Given the description of an element on the screen output the (x, y) to click on. 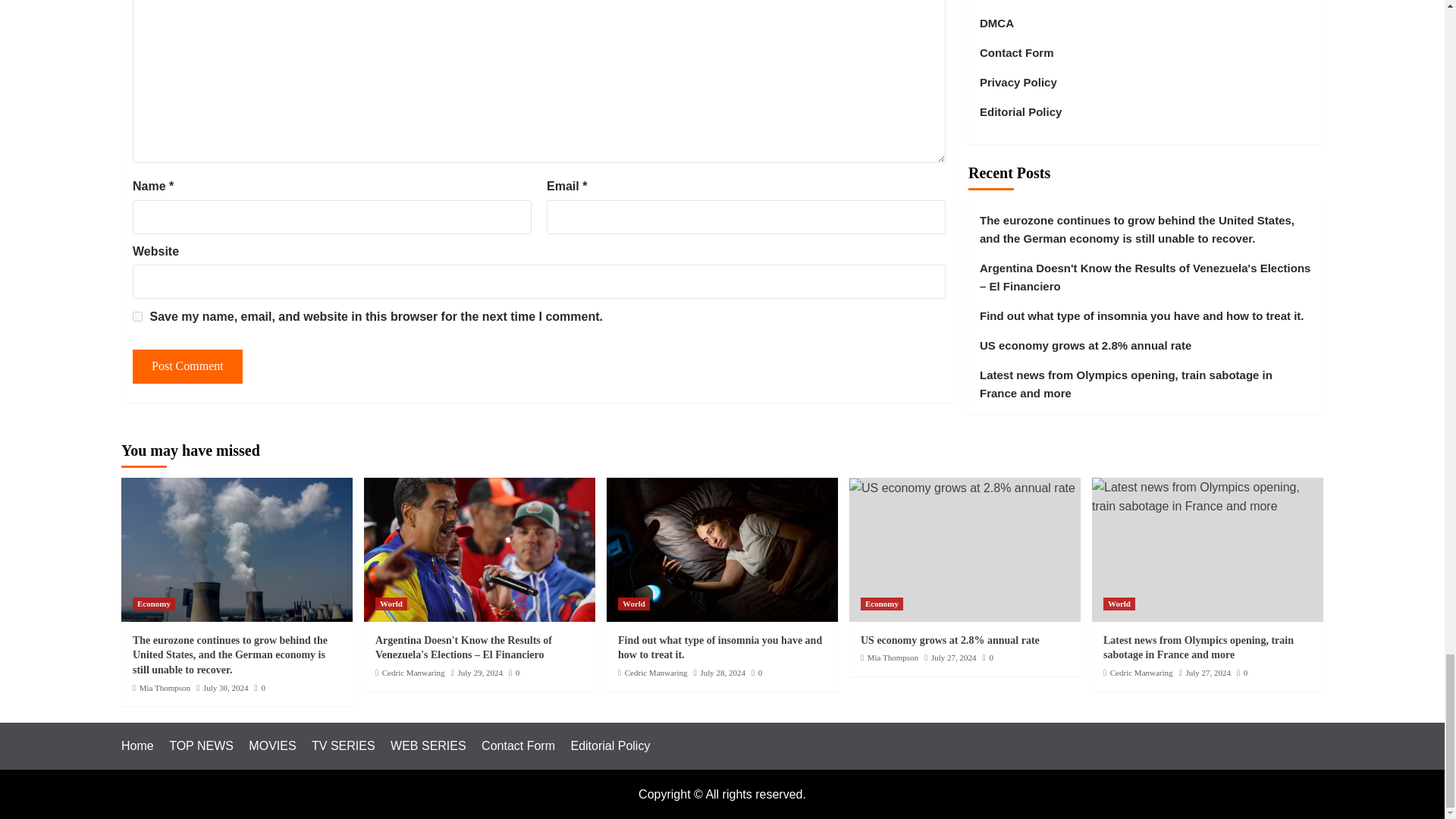
Post Comment (187, 366)
yes (137, 316)
Find out what type of insomnia you have and how to treat it. (722, 549)
